Given the description of an element on the screen output the (x, y) to click on. 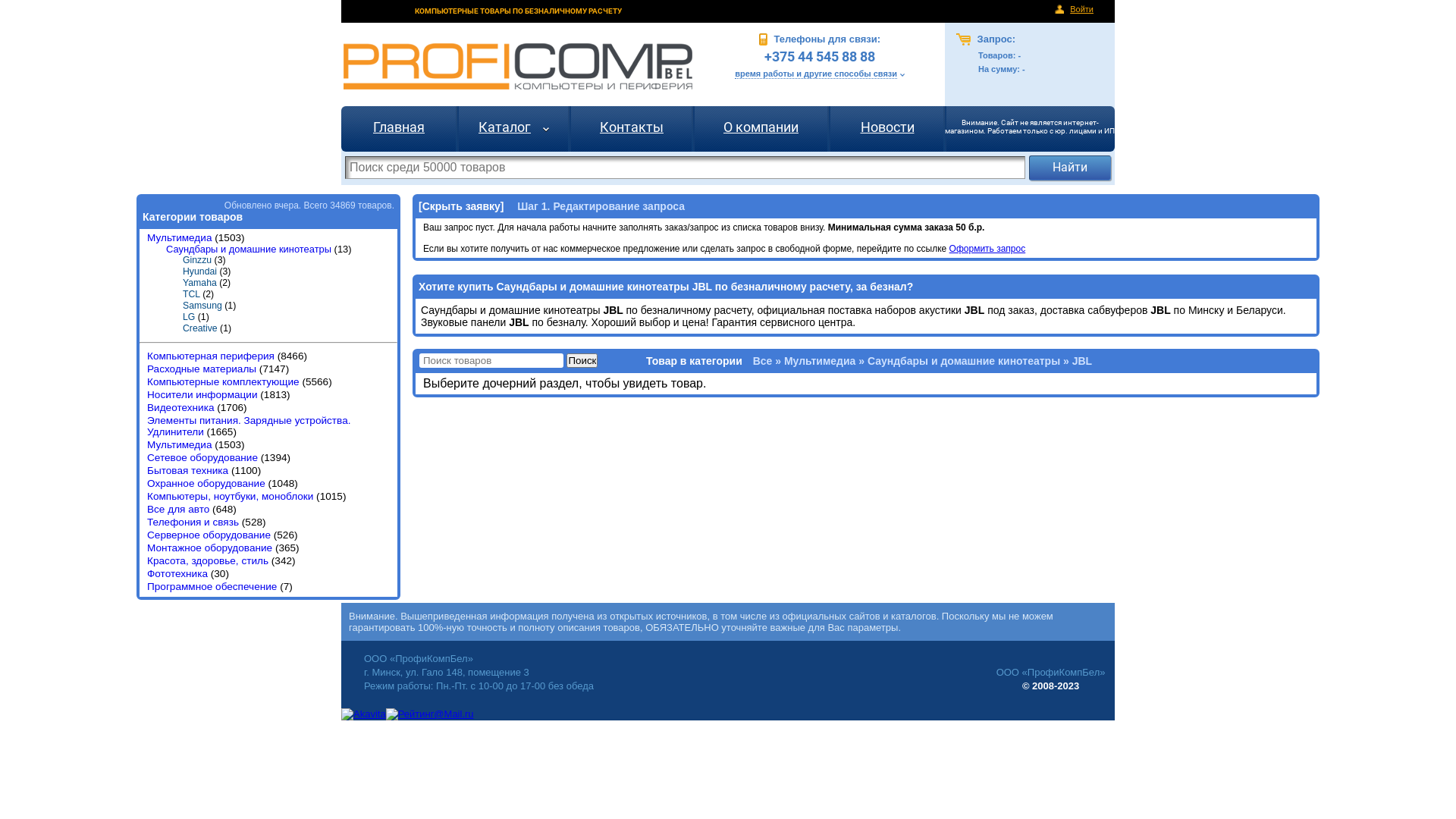
Creative Element type: text (199, 328)
Yamaha Element type: text (199, 282)
Hyundai Element type: text (199, 271)
Ginzzu Element type: text (196, 259)
LG Element type: text (188, 316)
Samsung Element type: text (202, 305)
TCL Element type: text (191, 293)
